Given the description of an element on the screen output the (x, y) to click on. 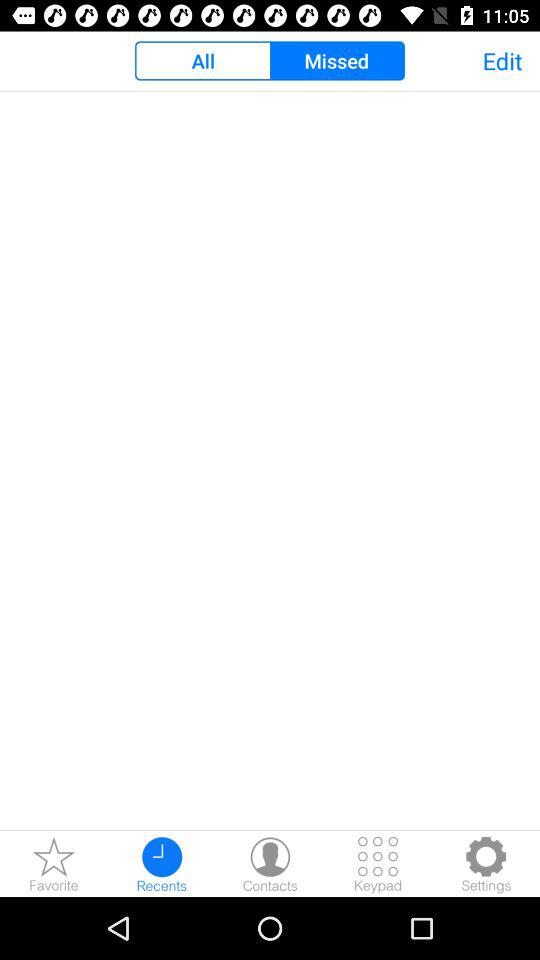
open settings (485, 864)
